Given the description of an element on the screen output the (x, y) to click on. 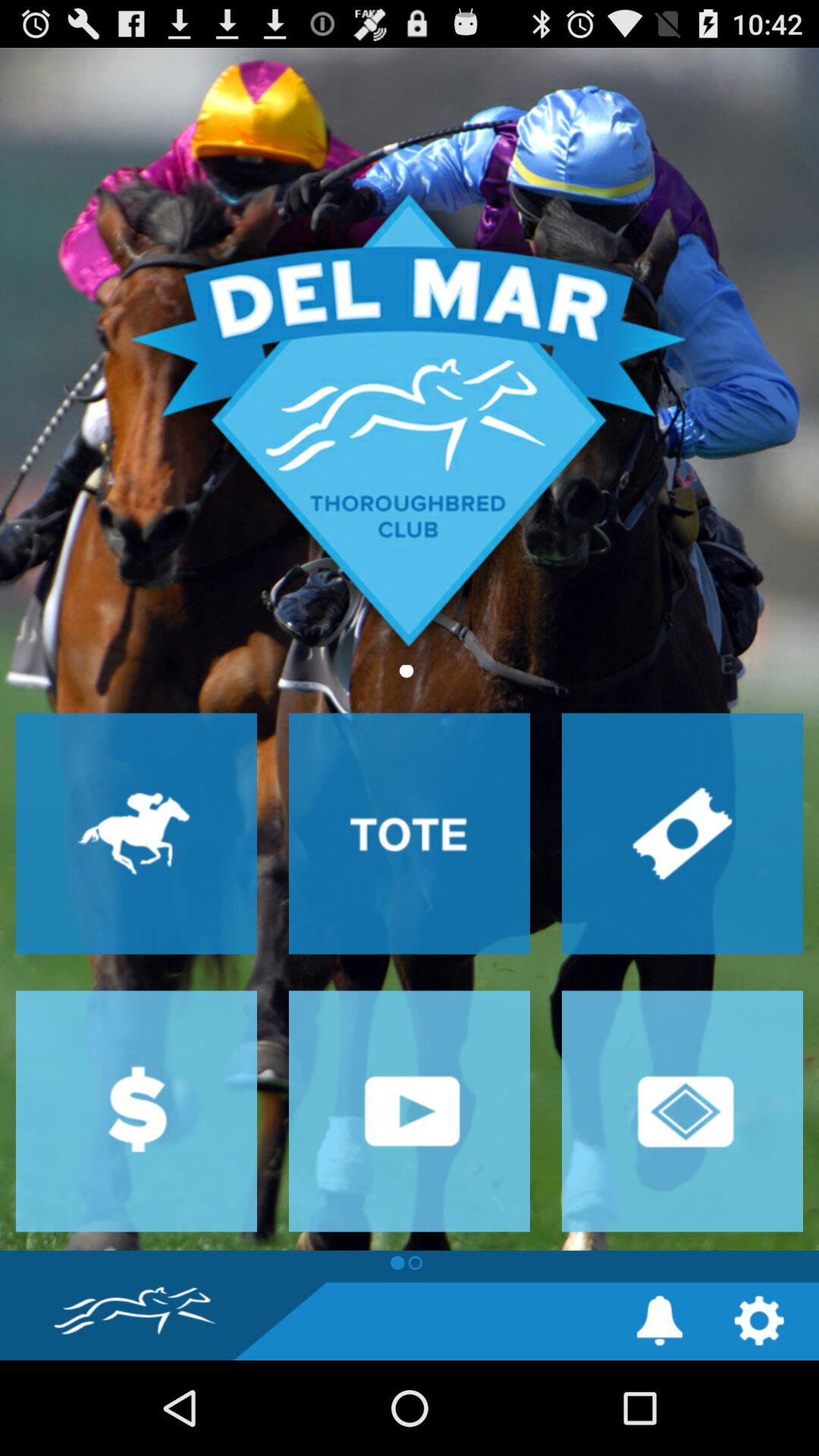
tote (409, 833)
